Given the description of an element on the screen output the (x, y) to click on. 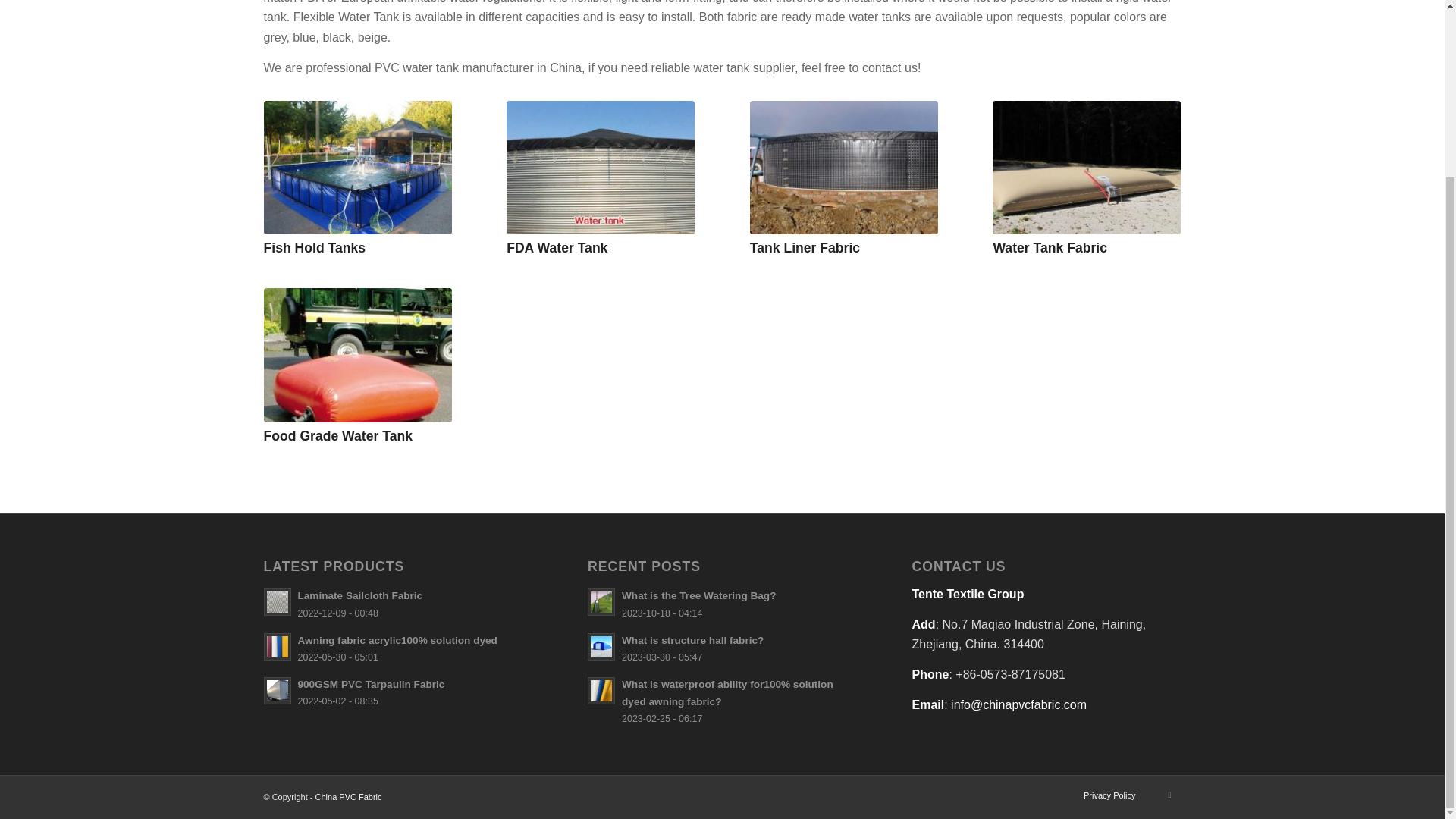
Fish Hold Tanks (314, 247)
Water Tank Fabric (1049, 247)
Food Grade Water Tank (338, 435)
Food Grade Water Tank (357, 354)
Fish Hold Tanks (357, 167)
Tank Liner Fabric (843, 167)
Tank Liner Fabric (804, 247)
Laminate Sailcloth Fabric (397, 603)
FDA Water Tank (556, 247)
Water Tank Fabric (1086, 167)
